Given the description of an element on the screen output the (x, y) to click on. 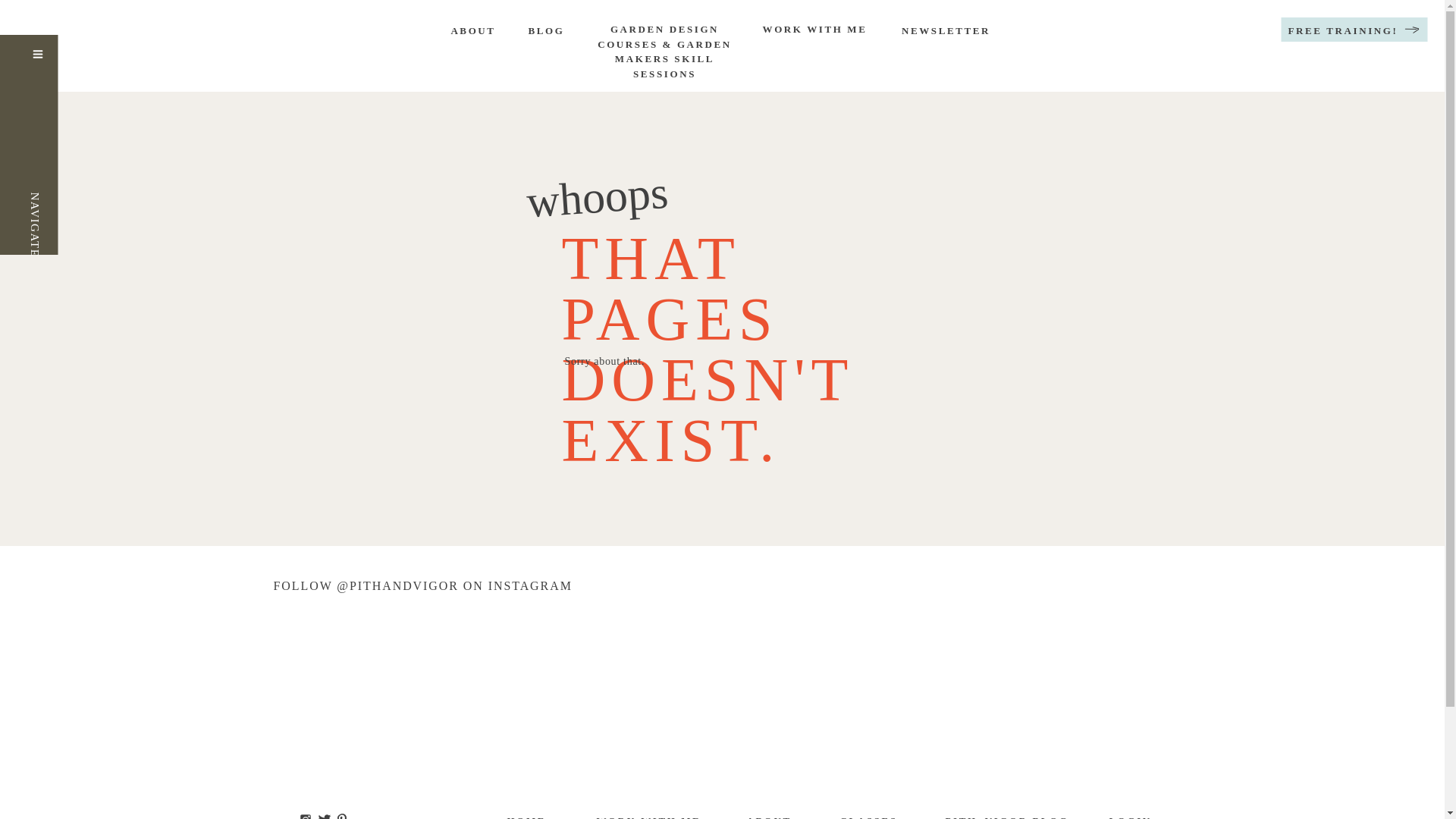
ABOUT (767, 815)
WORK WITH ME (815, 33)
FREE TRAINING! (1343, 31)
NEWSLETTER (945, 31)
WORK WITH ME (649, 815)
BLOG (545, 31)
ABOUT (471, 31)
